Given the description of an element on the screen output the (x, y) to click on. 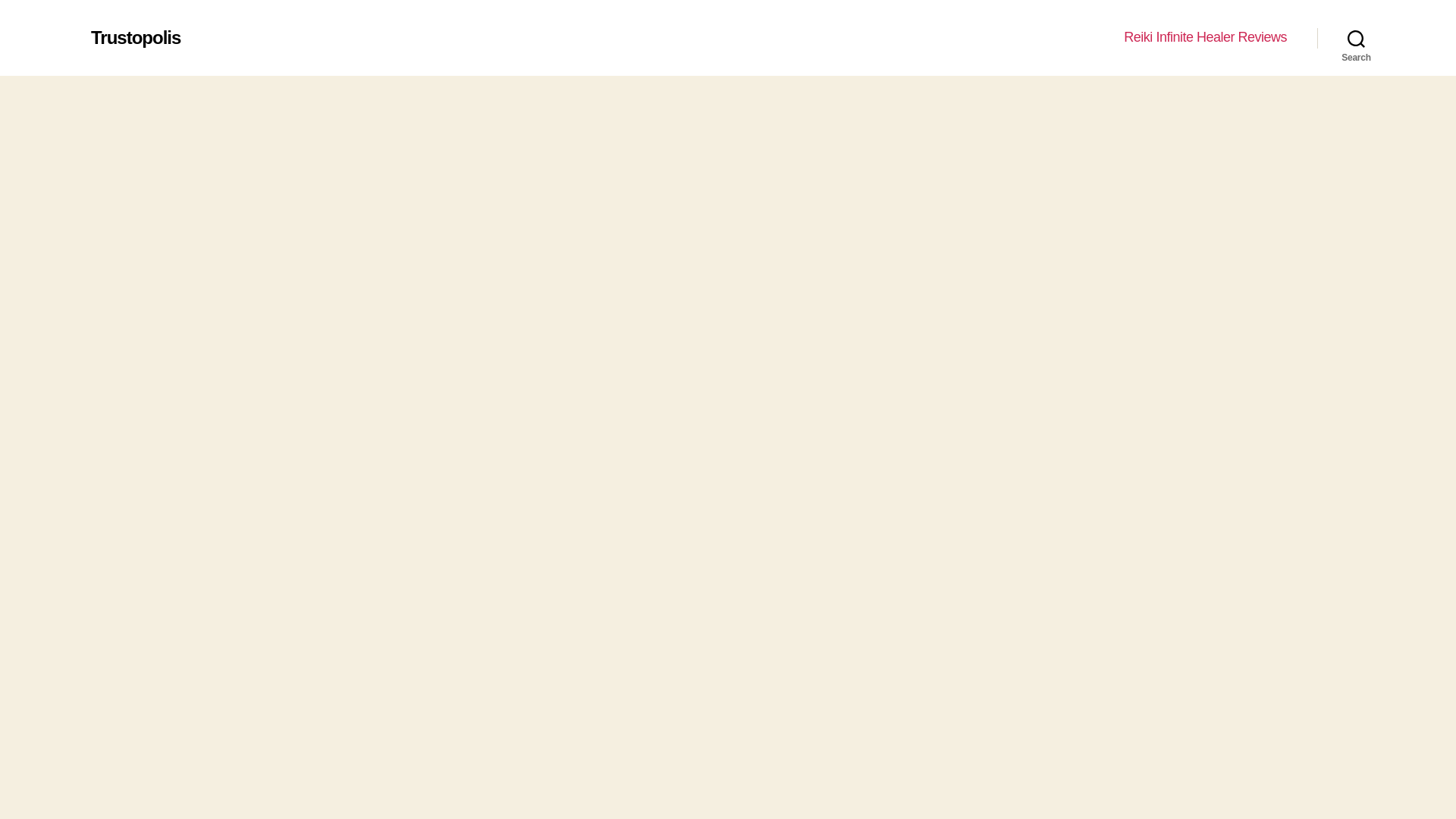
Search (1355, 37)
Trustopolis (135, 37)
Reiki Infinite Healer Reviews (1205, 37)
